Given the description of an element on the screen output the (x, y) to click on. 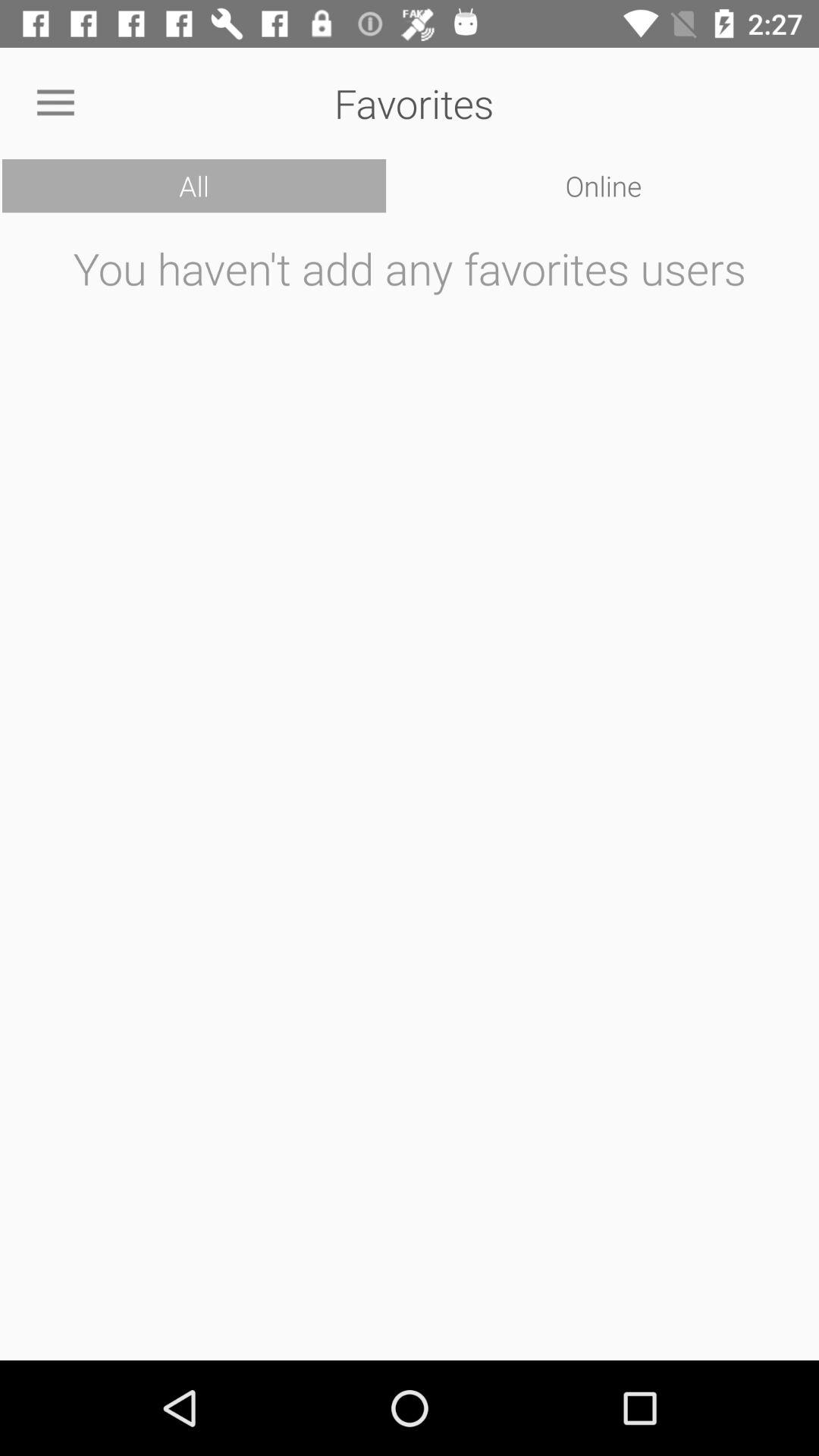
click item to the left of online icon (194, 185)
